Given the description of an element on the screen output the (x, y) to click on. 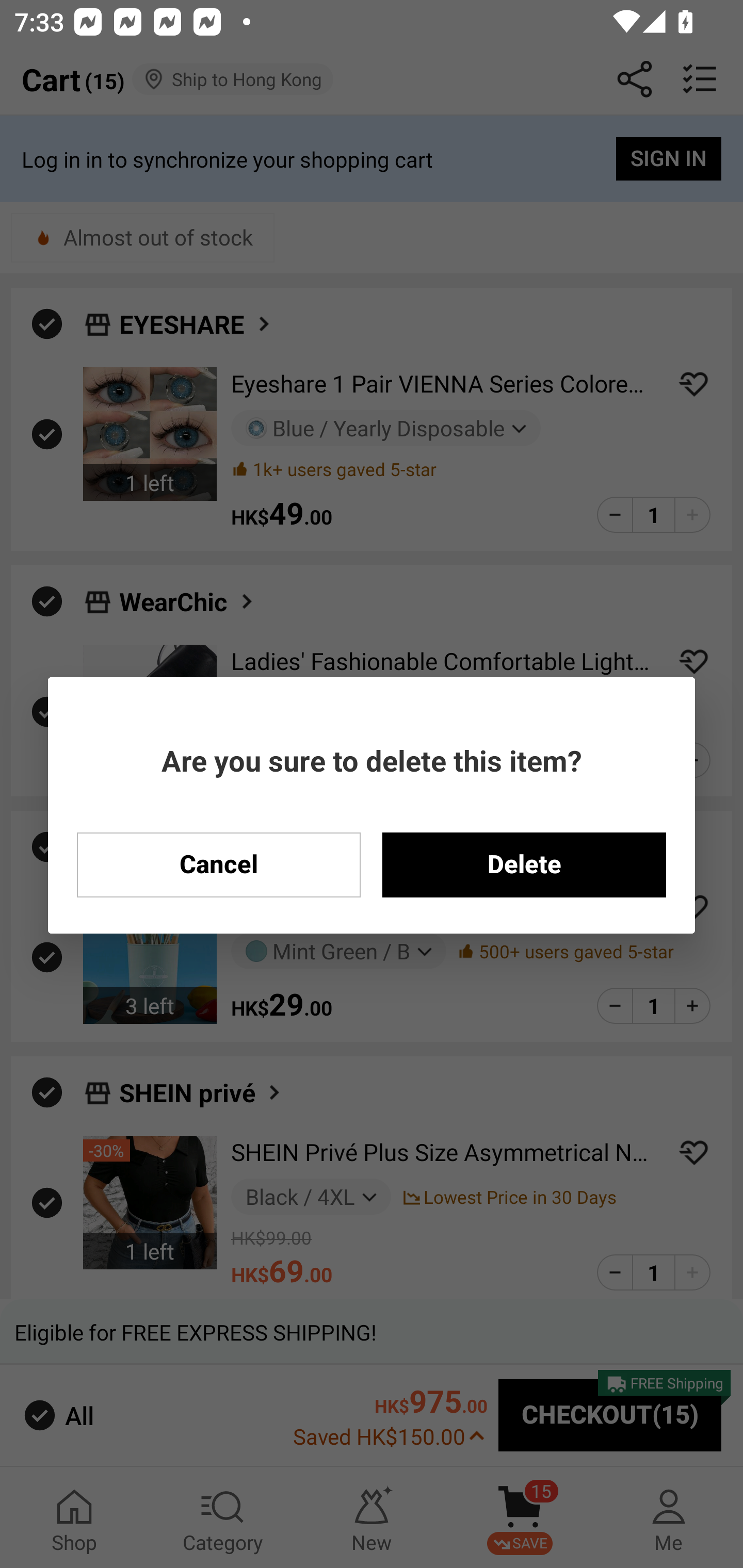
Are you sure to delete this item? (371, 760)
Cancel (218, 864)
Delete (524, 864)
